Given the description of an element on the screen output the (x, y) to click on. 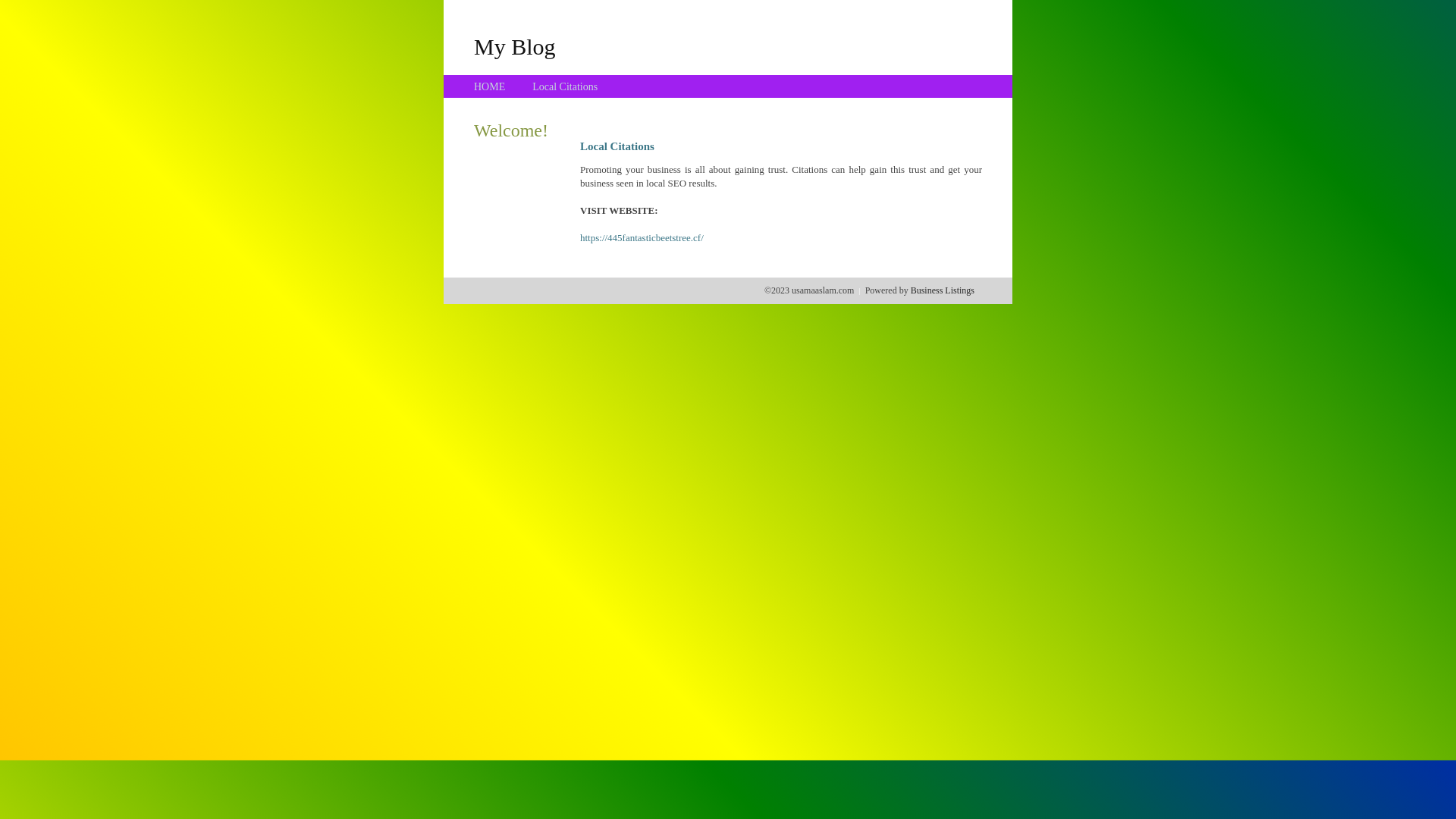
My Blog Element type: text (514, 46)
https://445fantasticbeetstree.cf/ Element type: text (641, 237)
Business Listings Element type: text (942, 290)
Local Citations Element type: text (564, 86)
HOME Element type: text (489, 86)
